Given the description of an element on the screen output the (x, y) to click on. 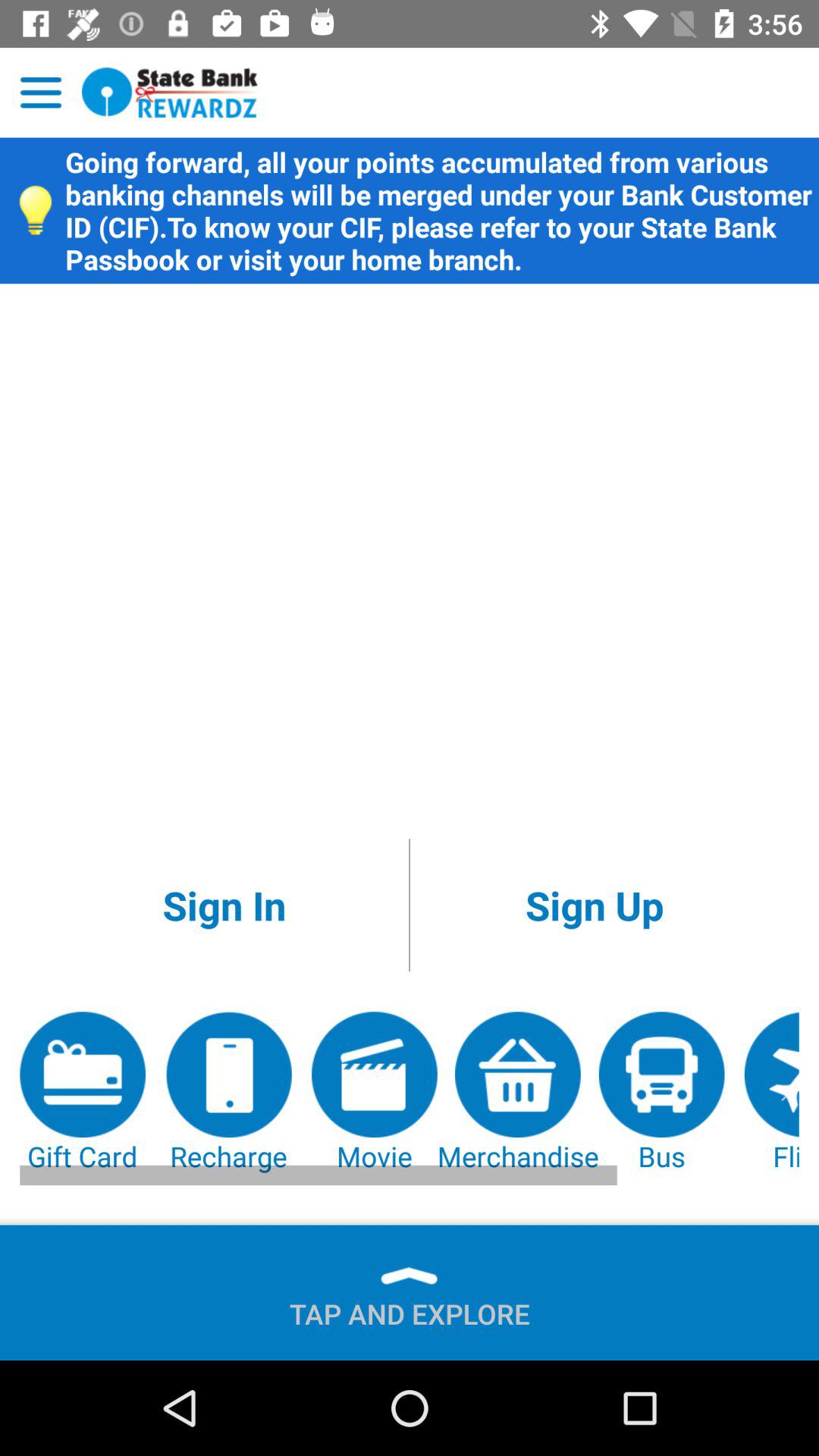
jump to the movie app (374, 1093)
